Given the description of an element on the screen output the (x, y) to click on. 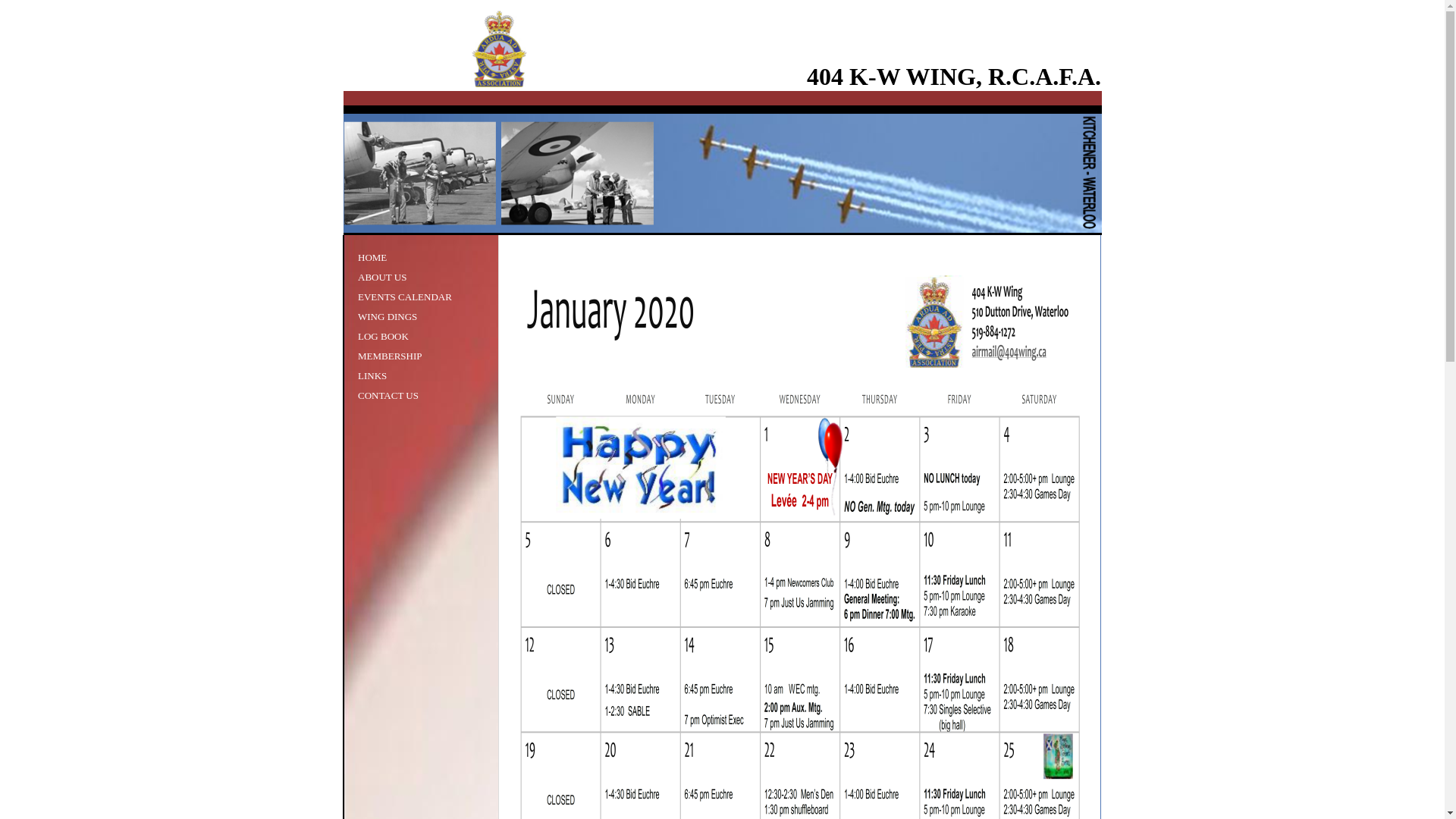
EVENTS CALENDAR Element type: text (404, 296)
LINKS Element type: text (371, 375)
WING DINGS Element type: text (387, 316)
CONTACT US Element type: text (387, 395)
LOG BOOK Element type: text (382, 336)
ABOUT US Element type: text (381, 276)
HOME Element type: text (371, 257)
MEMBERSHIP Element type: text (389, 355)
404 K-W WING, R.C.A.F.A. Element type: text (953, 76)
